Given the description of an element on the screen output the (x, y) to click on. 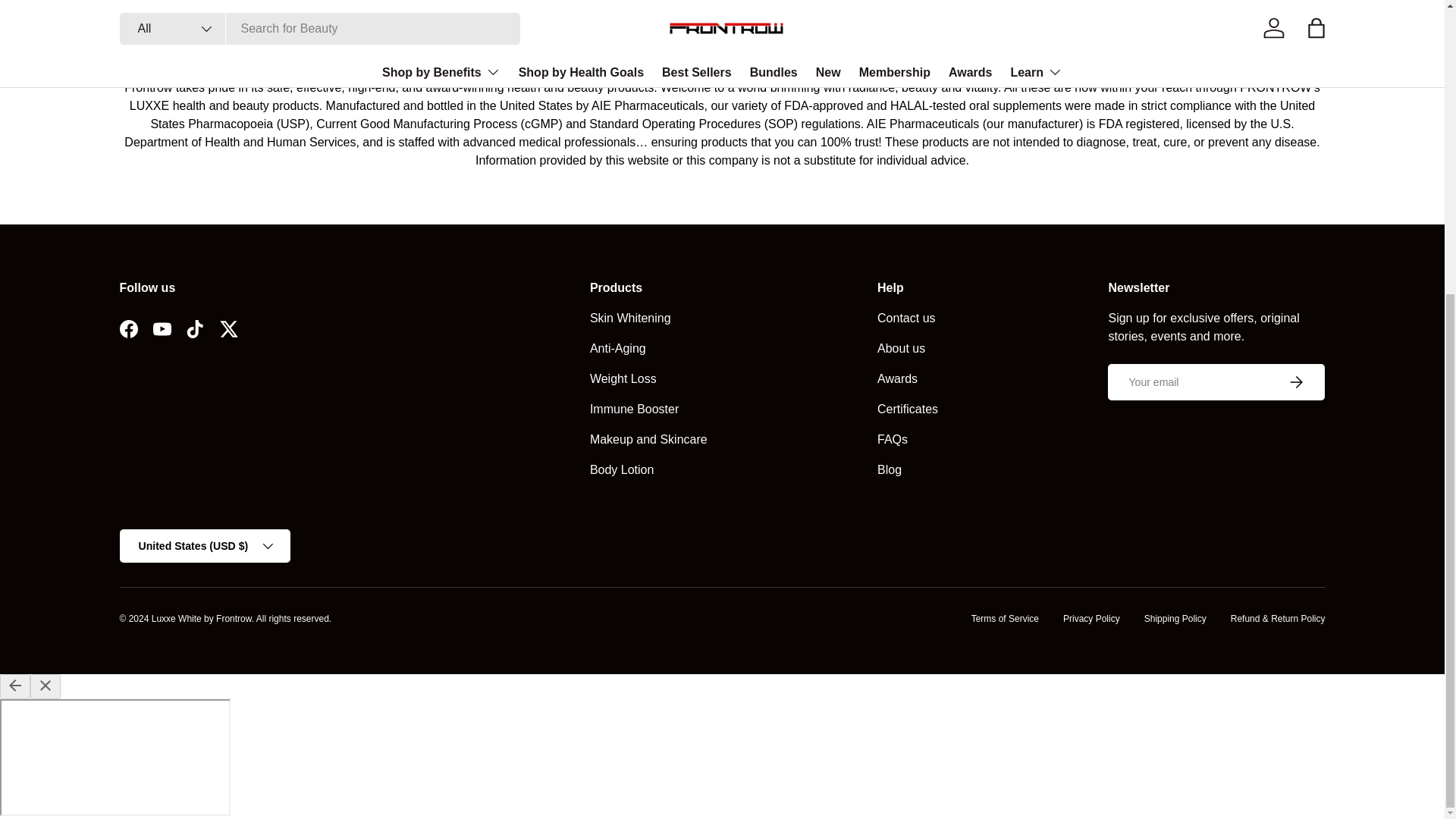
Luxxe White on TikTok (195, 328)
Luxxe White on Facebook (128, 328)
Luxxe White on YouTube (162, 328)
Luxxe White on Twitter (229, 328)
